Given the description of an element on the screen output the (x, y) to click on. 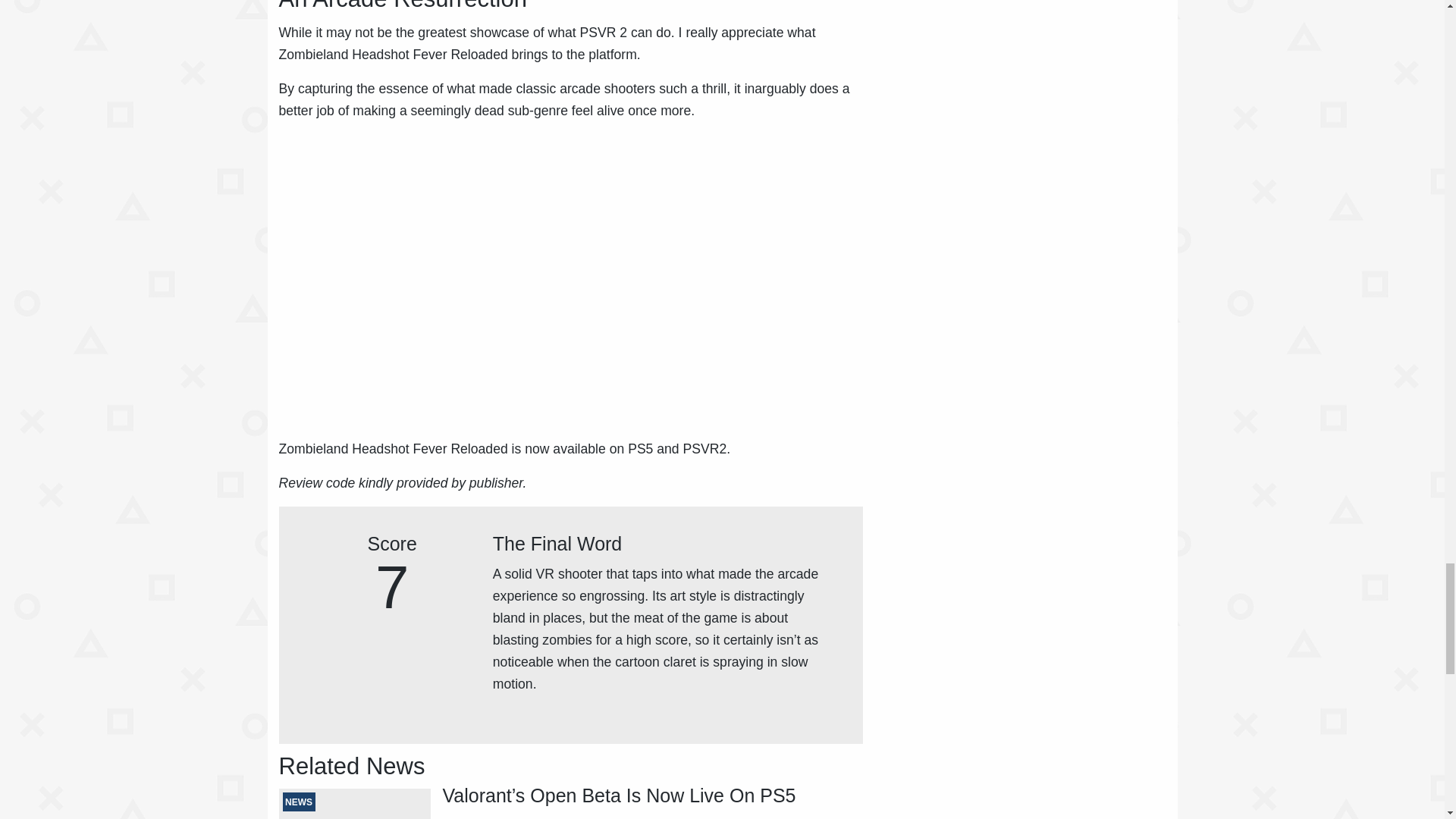
DAVID CARCASOLE (494, 818)
NEWS (354, 803)
